Given the description of an element on the screen output the (x, y) to click on. 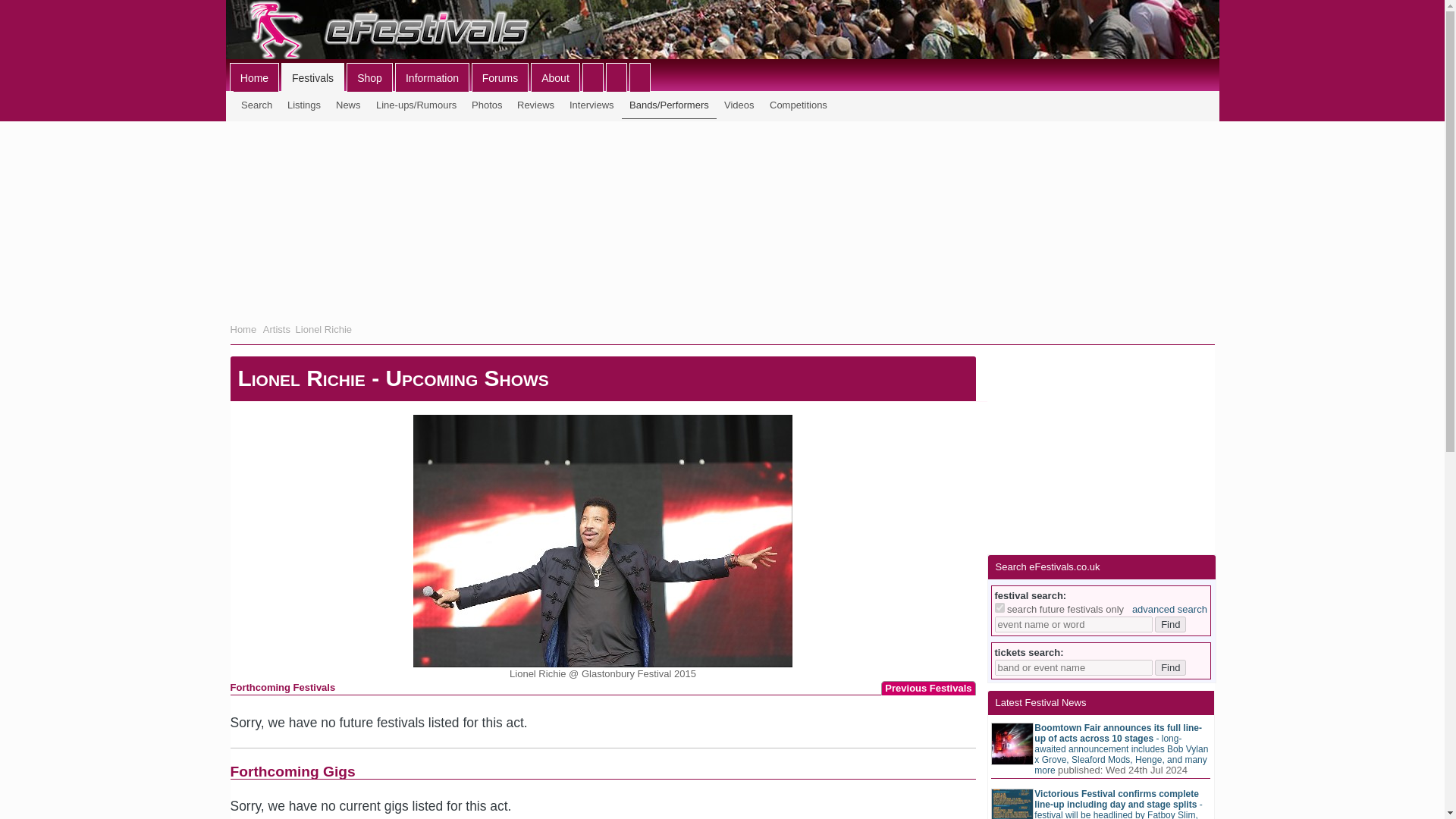
Find (1170, 667)
Home (243, 328)
Previous Festivals (927, 687)
Find (1170, 624)
Find (1170, 624)
Find (1170, 667)
Artists (276, 328)
advanced search (1169, 609)
now (999, 607)
